Given the description of an element on the screen output the (x, y) to click on. 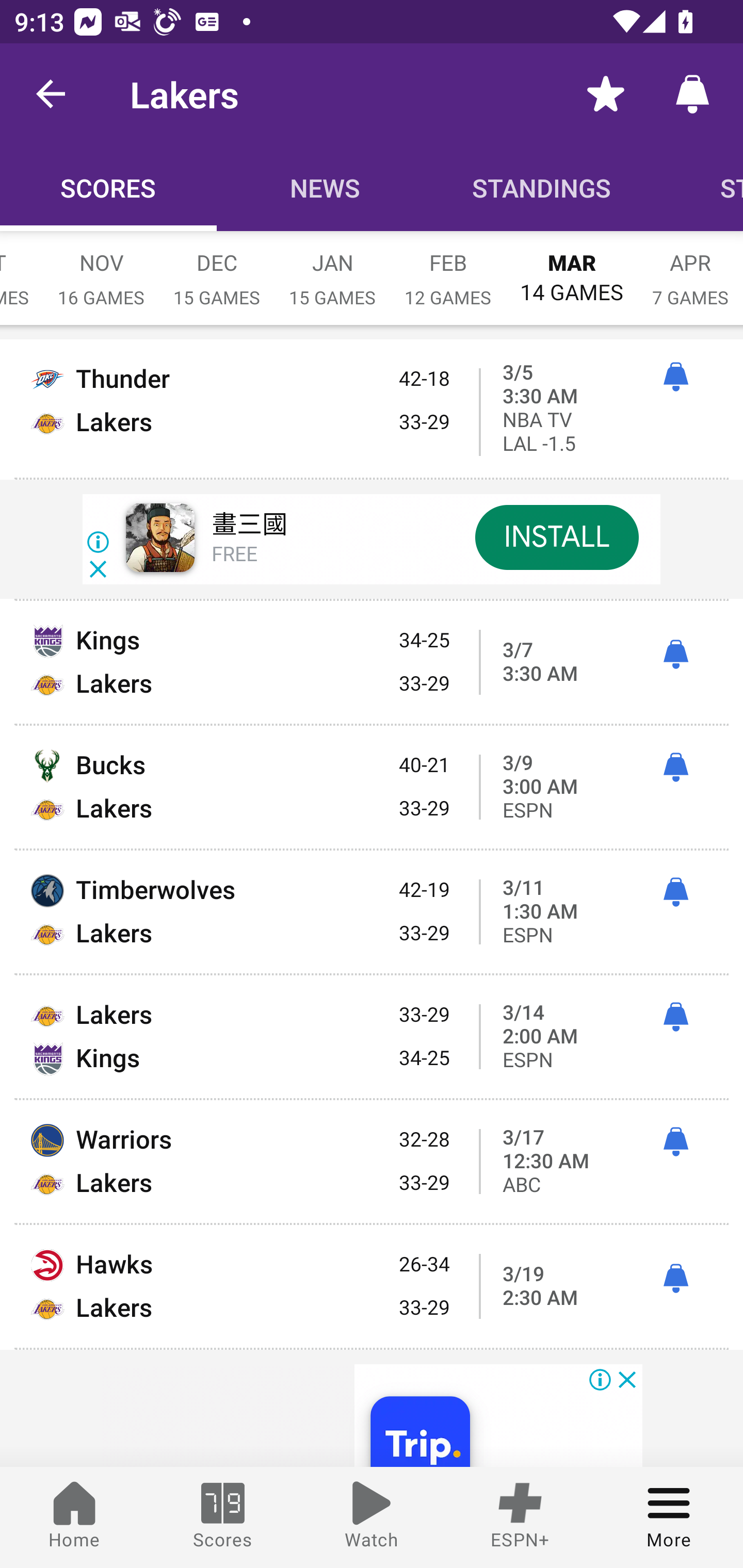
back.button (50, 93)
Favorite toggle (605, 93)
Alerts (692, 93)
News NEWS (324, 187)
Standings STANDINGS (541, 187)
NOV 16 GAMES (101, 268)
DEC 15 GAMES (216, 268)
JAN 15 GAMES (332, 268)
FEB 12 GAMES (447, 268)
MAR 14 GAMES (571, 267)
APR 7 GAMES (690, 268)
ì (675, 376)
INSTALL (556, 536)
畫三國 (249, 525)
FREE (234, 554)
Kings 34-25 Lakers 33-29 3/7 3:30 AM ì (371, 662)
ì (675, 654)
Bucks 40-21 Lakers 33-29 3/9 3:00 AM ì ESPN (371, 786)
ì (675, 767)
ì (675, 892)
Lakers 33-29 Kings 34-25 3/14 2:00 AM ì ESPN (371, 1036)
ì (675, 1016)
Warriors 32-28 Lakers 33-29 3/17 12:30 AM ì ABC (371, 1161)
ì (675, 1141)
Hawks 26-34 Lakers 33-29 3/19 2:30 AM ì (371, 1286)
ì (675, 1278)
Home (74, 1517)
Scores (222, 1517)
Watch (371, 1517)
ESPN+ (519, 1517)
